Given the description of an element on the screen output the (x, y) to click on. 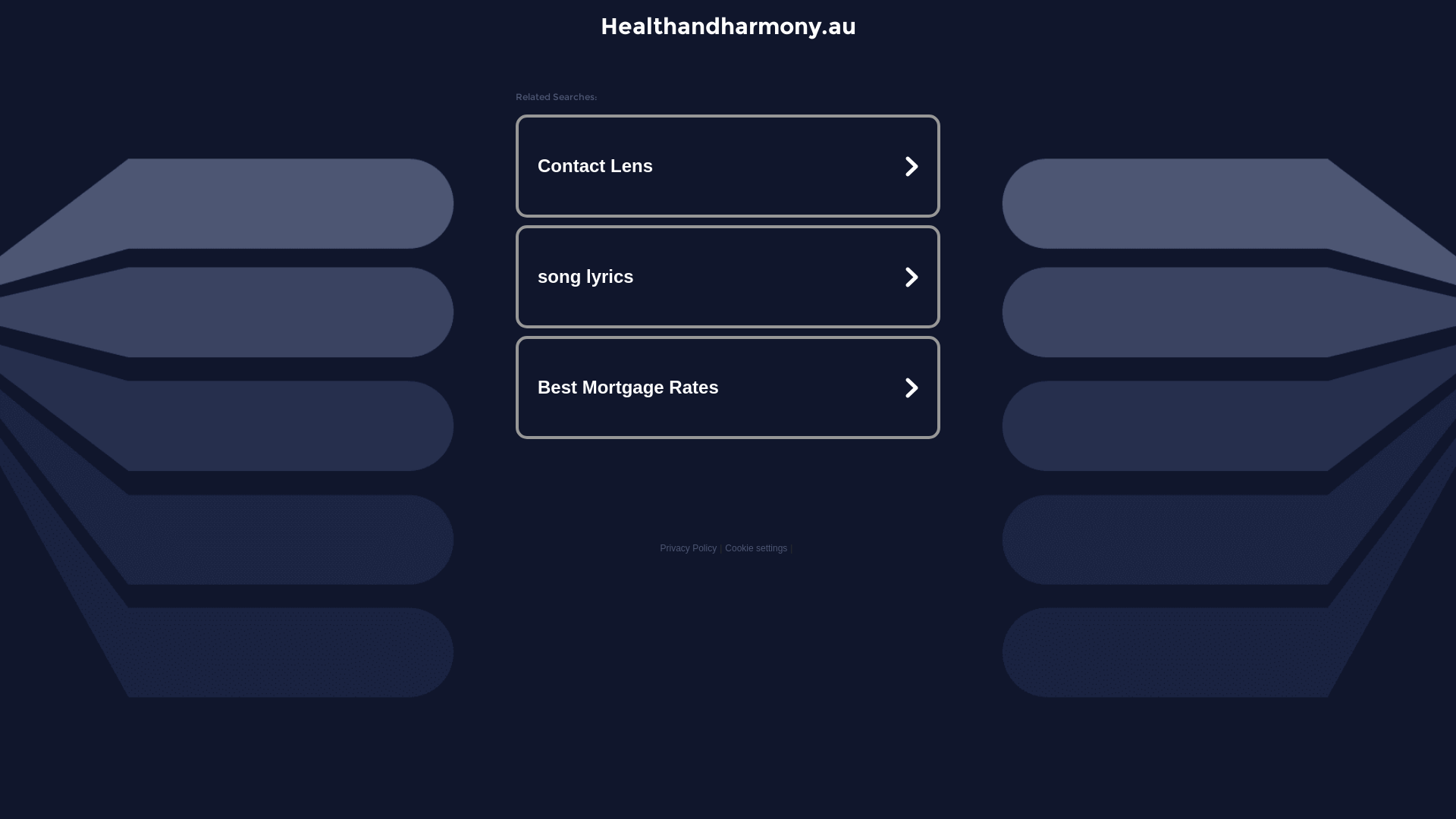
Best Mortgage Rates Element type: text (727, 387)
Contact Lens Element type: text (727, 165)
song lyrics Element type: text (727, 276)
Healthandharmony.au Element type: text (728, 26)
Cookie settings Element type: text (755, 547)
Privacy Policy Element type: text (687, 547)
